Given the description of an element on the screen output the (x, y) to click on. 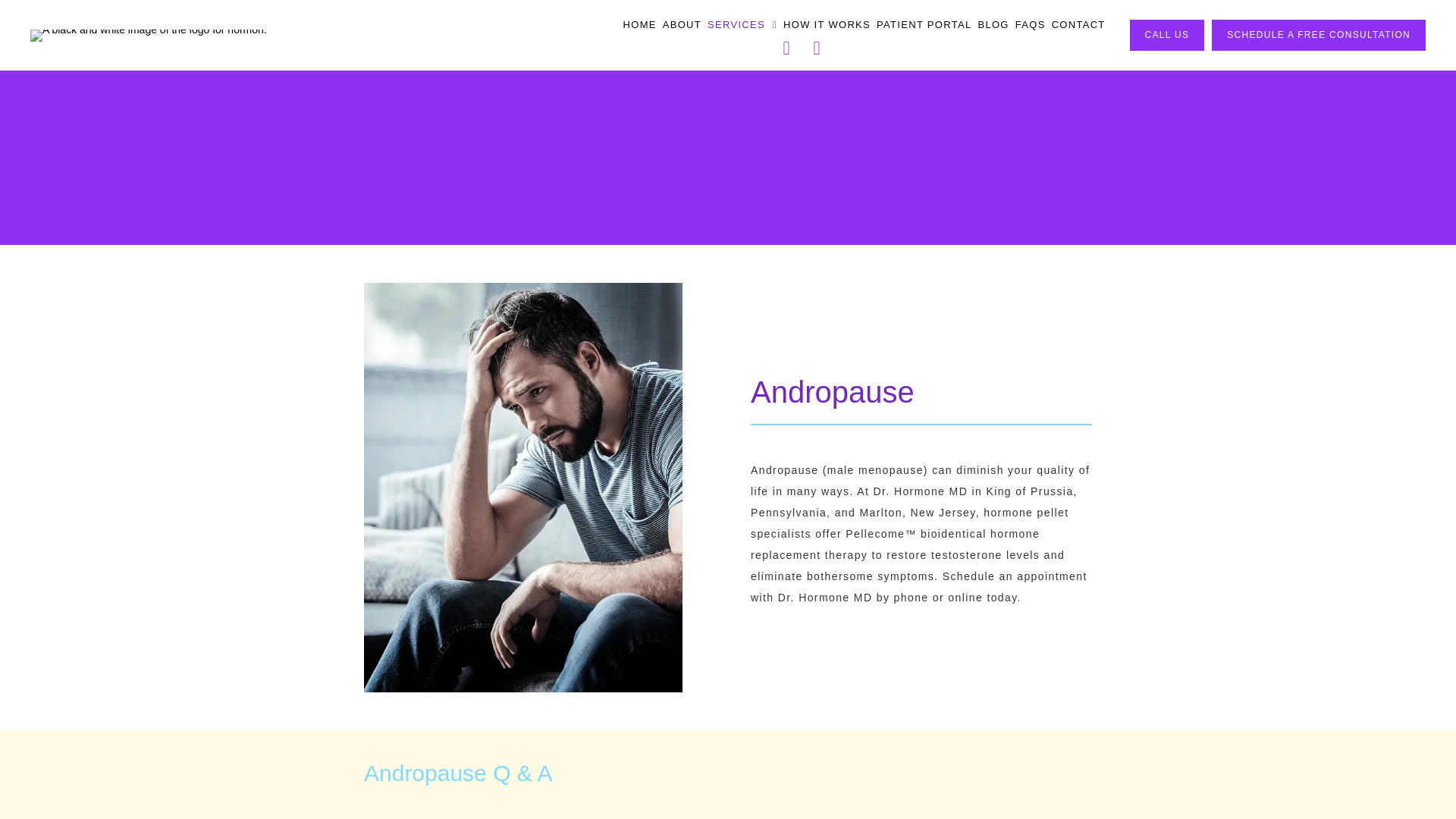
HOME (639, 23)
PATIENT PORTAL (923, 23)
SERVICES (742, 23)
FAQS (1029, 23)
CALL US (1167, 34)
BLOG (992, 23)
HOW IT WORKS (826, 23)
ABOUT (681, 23)
SCHEDULE A FREE CONSULTATION (1318, 34)
CONTACT (1078, 23)
